Given the description of an element on the screen output the (x, y) to click on. 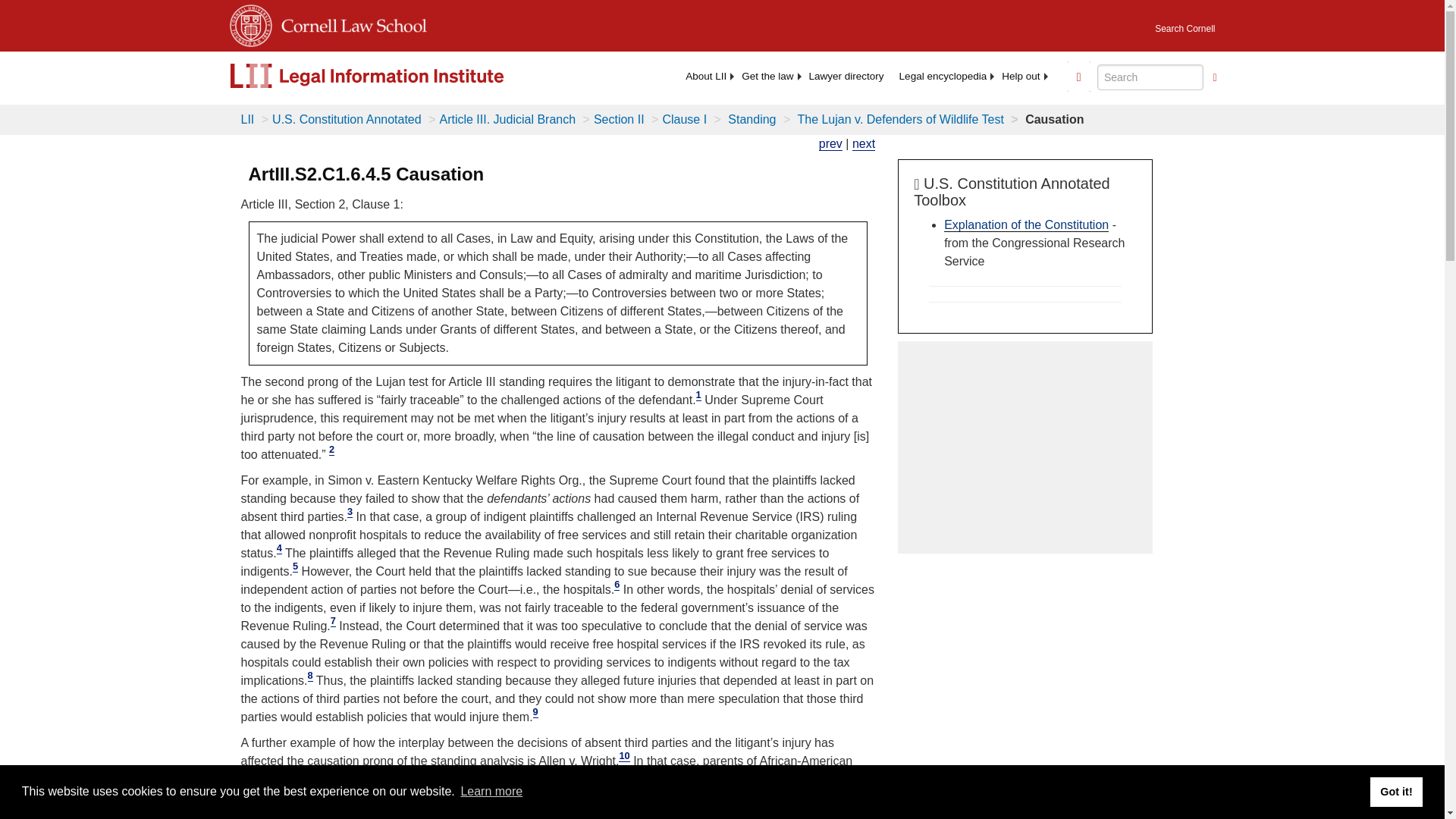
Get the law (766, 76)
Search Cornell University (1184, 24)
Learn more (491, 791)
Lawyer directory (846, 76)
Legal encyclopedia (942, 76)
About LII (705, 76)
Cornell Law School (348, 23)
Got it! (1396, 791)
Search Cornell (1184, 24)
Cornell University (249, 23)
Cornell Law School (348, 23)
